Given the description of an element on the screen output the (x, y) to click on. 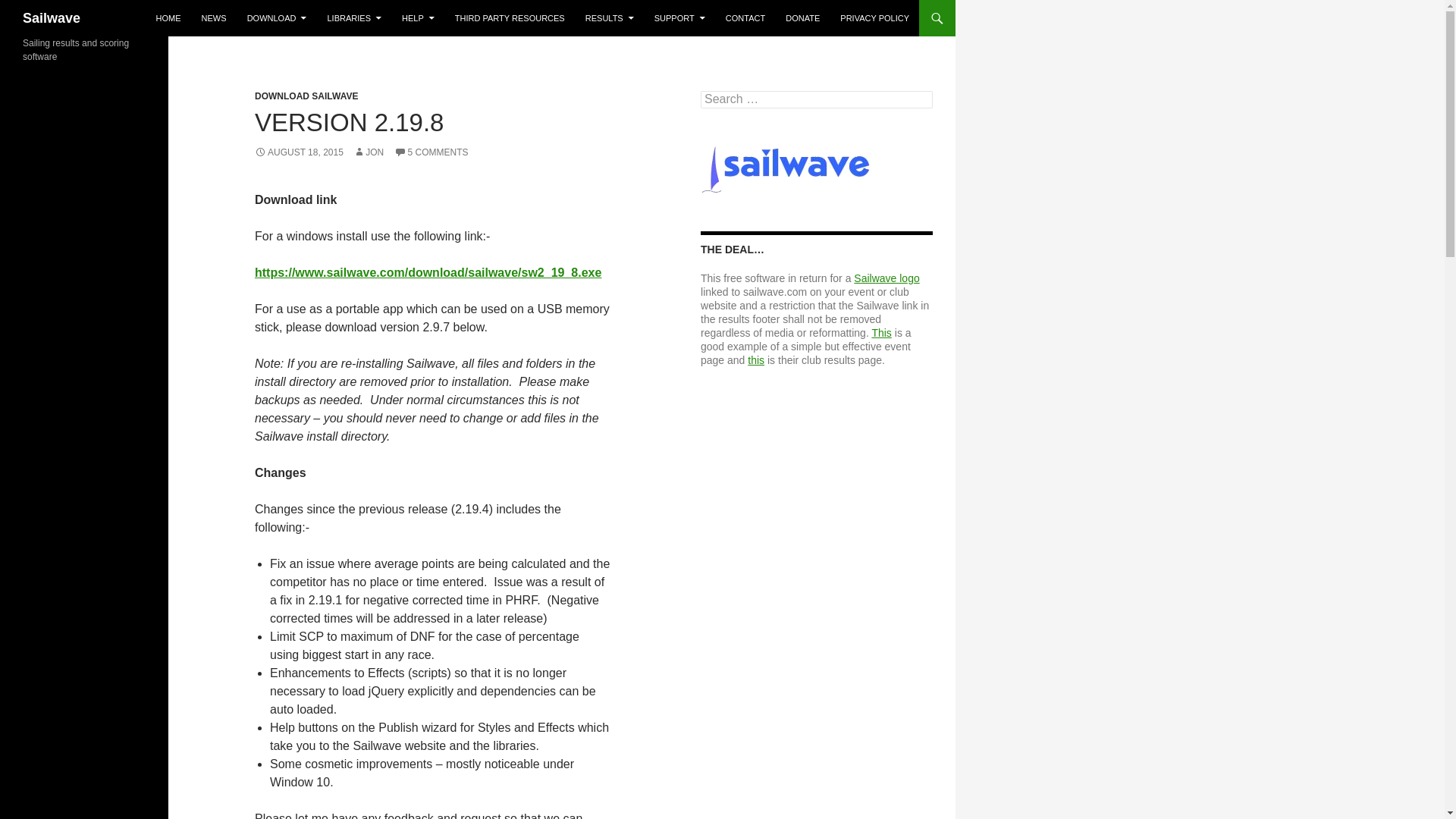
HELP (418, 18)
SUPPORT (679, 18)
PRIVACY POLICY (874, 18)
Sailwave (51, 18)
5 COMMENTS (431, 152)
RESULTS (609, 18)
THIRD PARTY RESOURCES (509, 18)
click to download (427, 272)
DONATE (802, 18)
CONTACT (745, 18)
LIBRARIES (354, 18)
AUGUST 18, 2015 (298, 152)
HOME (168, 18)
JON (368, 152)
